Given the description of an element on the screen output the (x, y) to click on. 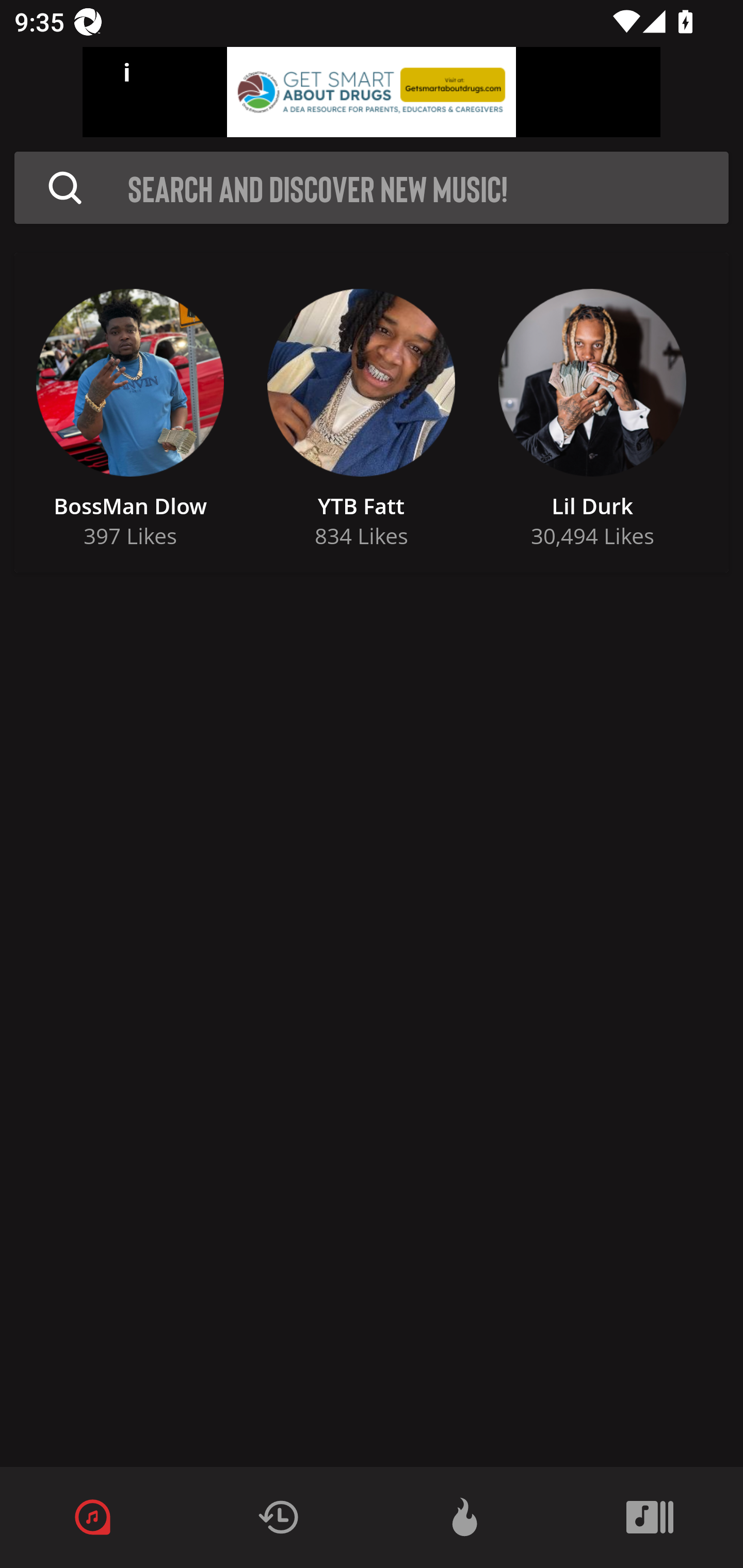
SEARCH AND DISCOVER NEW MUSIC! (427, 188)
Description (64, 188)
Description BossMan Dlow 397 Likes (129, 413)
Description YTB Fatt 834 Likes (360, 413)
Description Lil Durk 30,494 Likes (591, 413)
